Given the description of an element on the screen output the (x, y) to click on. 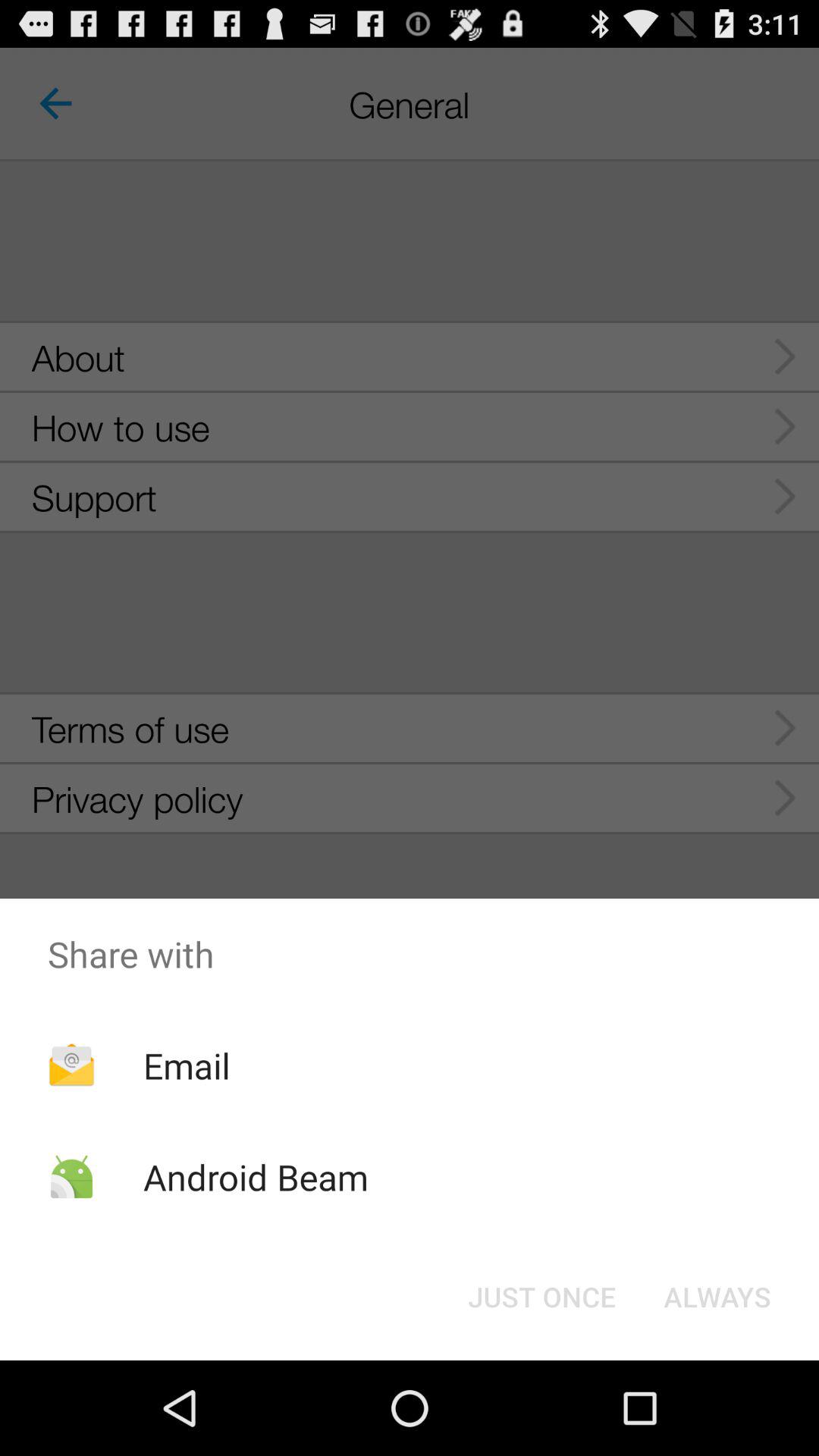
choose item below the email (255, 1176)
